Given the description of an element on the screen output the (x, y) to click on. 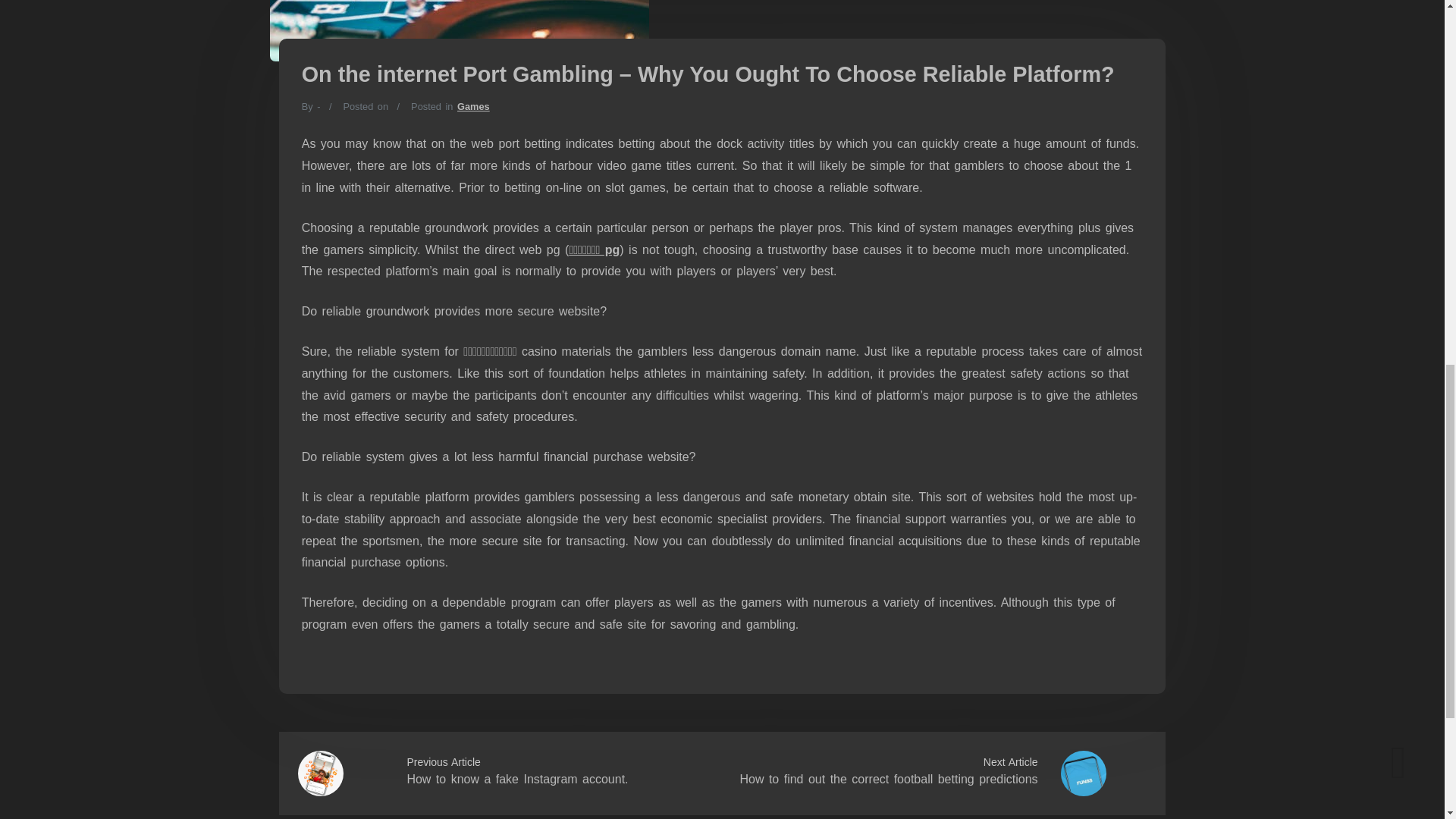
Games (473, 106)
How to know a fake Instagram account. (516, 779)
How to find out the correct football betting predictions (887, 779)
